Given the description of an element on the screen output the (x, y) to click on. 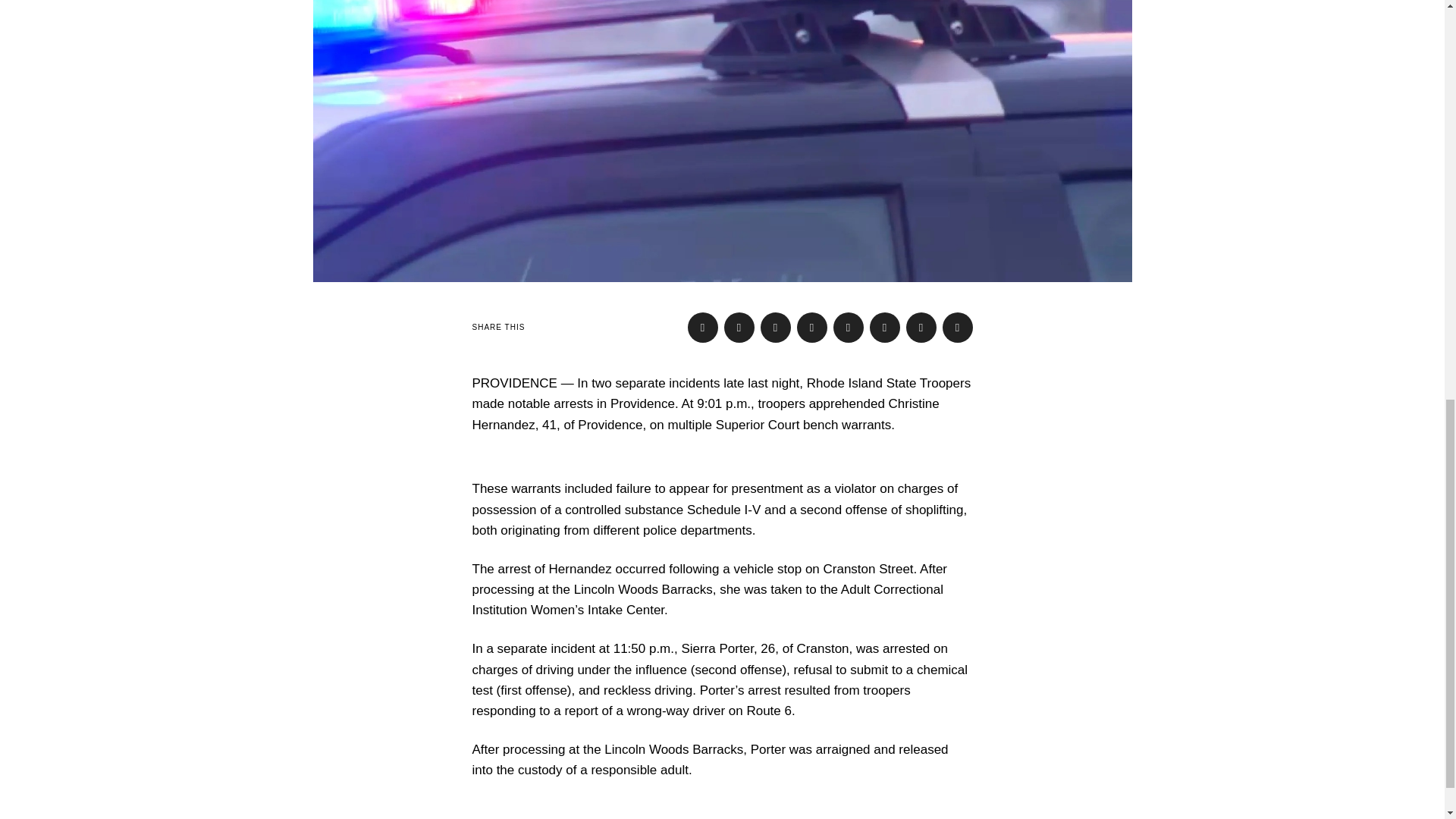
Pinterest (811, 327)
Facebook (702, 327)
Twitter (775, 327)
Linkedin (847, 327)
Reddit (920, 327)
Messenger (738, 327)
Whatsapp (884, 327)
Email (957, 327)
